Given the description of an element on the screen output the (x, y) to click on. 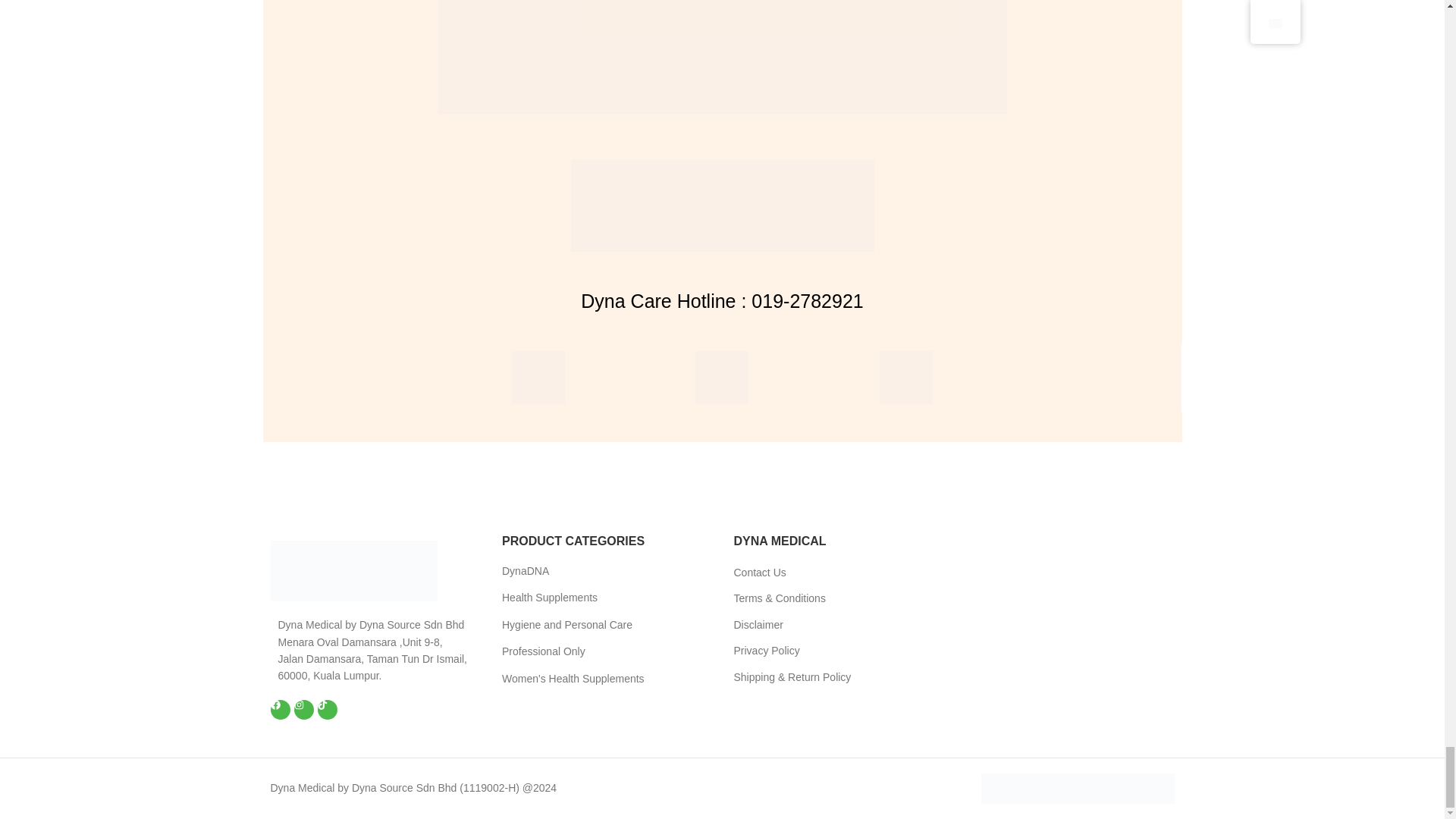
1685525042lazada-app-logo (906, 377)
nmshine testimonial website 1 (722, 57)
shopee-seeklogo (538, 377)
